Given the description of an element on the screen output the (x, y) to click on. 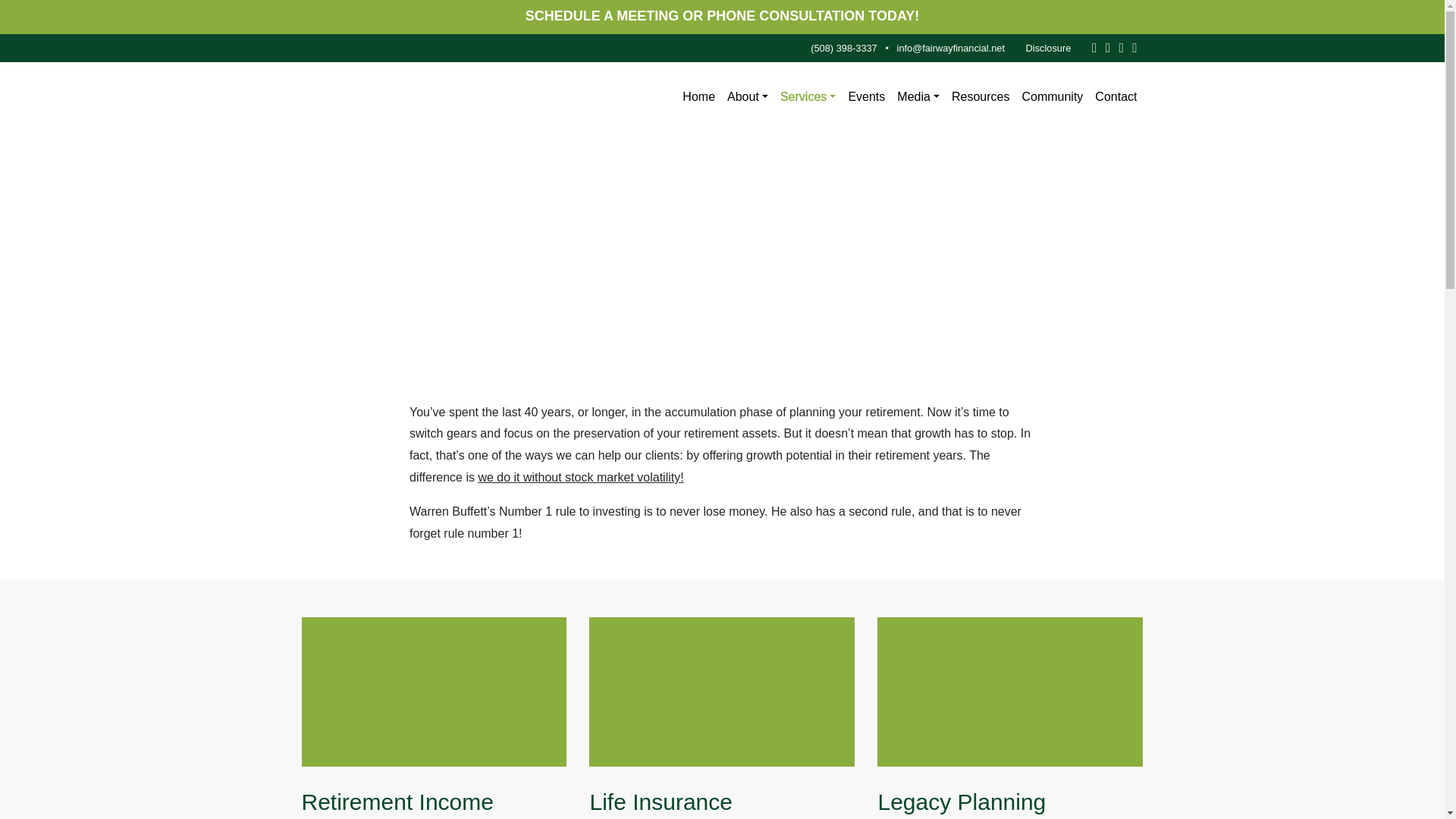
Events (866, 97)
Disclosure (1048, 47)
Media (917, 97)
Community (1051, 97)
SCHEDULE A MEETING OR PHONE CONSULTATION TODAY! (722, 15)
Home (698, 97)
Resources (979, 97)
About (747, 97)
Contact (1115, 97)
Services (807, 97)
